Given the description of an element on the screen output the (x, y) to click on. 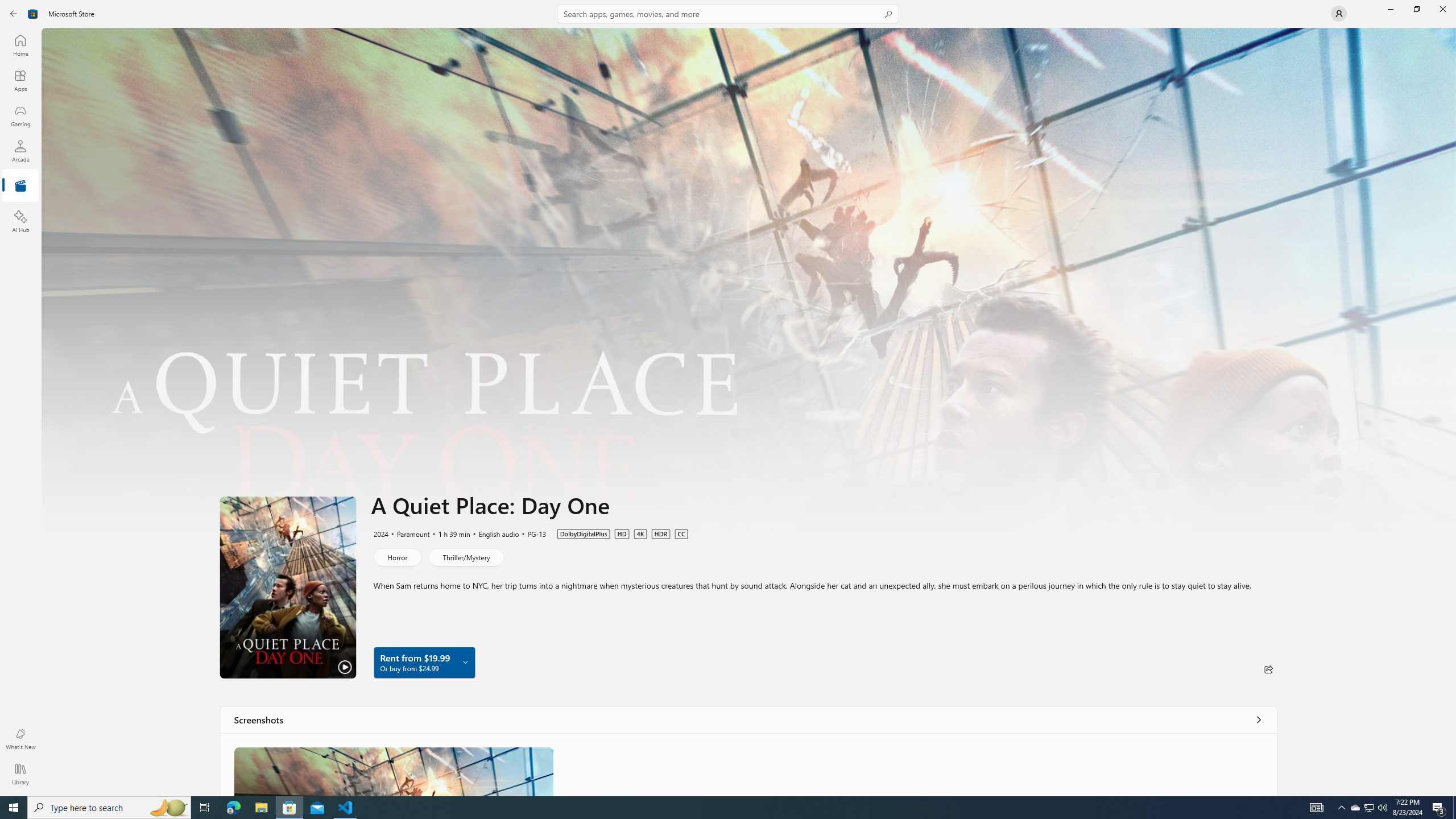
English audio (494, 533)
Paramount (408, 533)
Home (20, 45)
AI Hub (20, 221)
Arcade (20, 150)
What's New (20, 738)
Entertainment (20, 185)
Search (727, 13)
1 h 39 min (449, 533)
Restore Microsoft Store (1416, 9)
Gaming (20, 115)
See all (1258, 719)
Thriller/Mystery (465, 556)
